Given the description of an element on the screen output the (x, y) to click on. 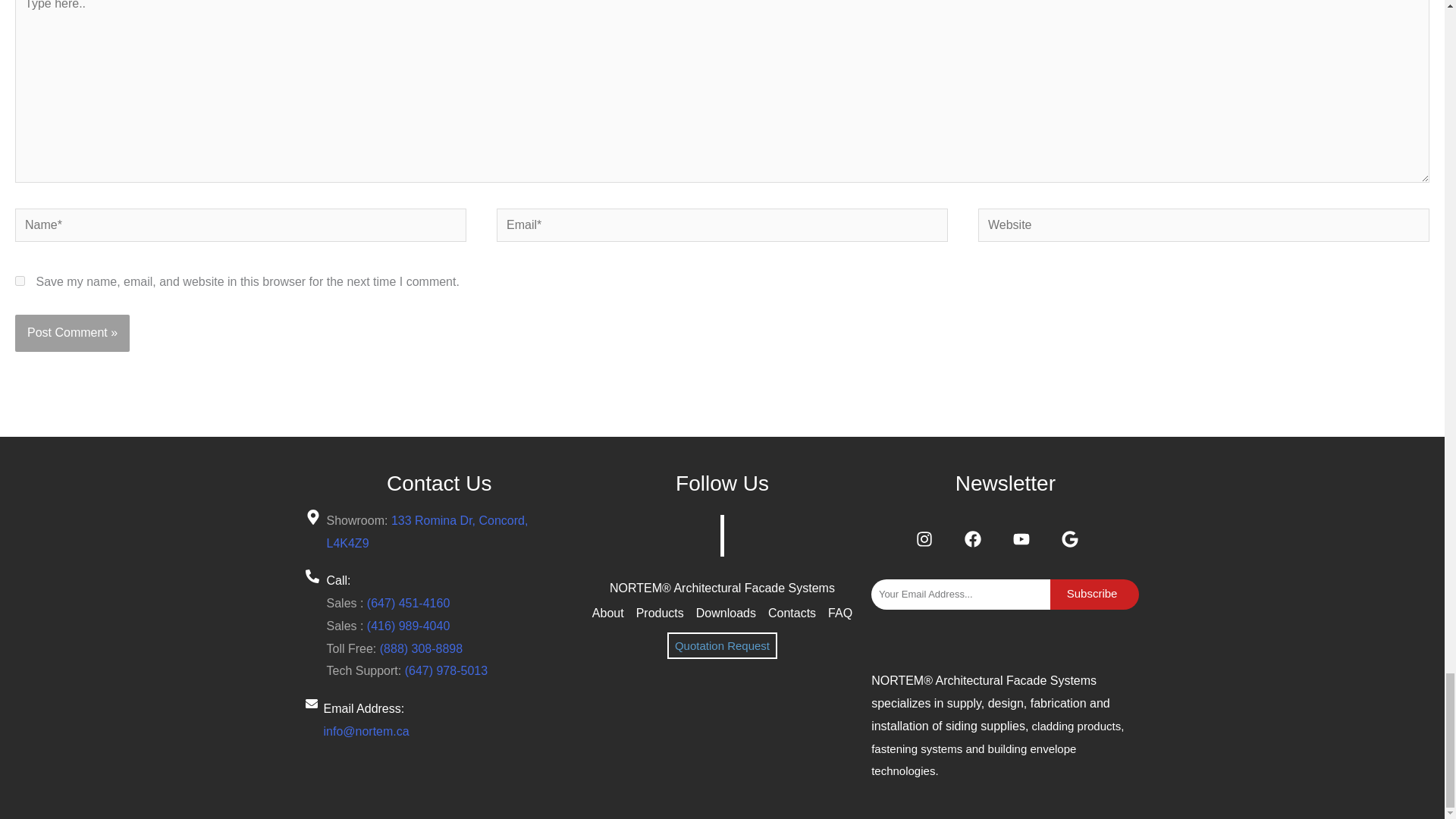
yes (19, 280)
